Given the description of an element on the screen output the (x, y) to click on. 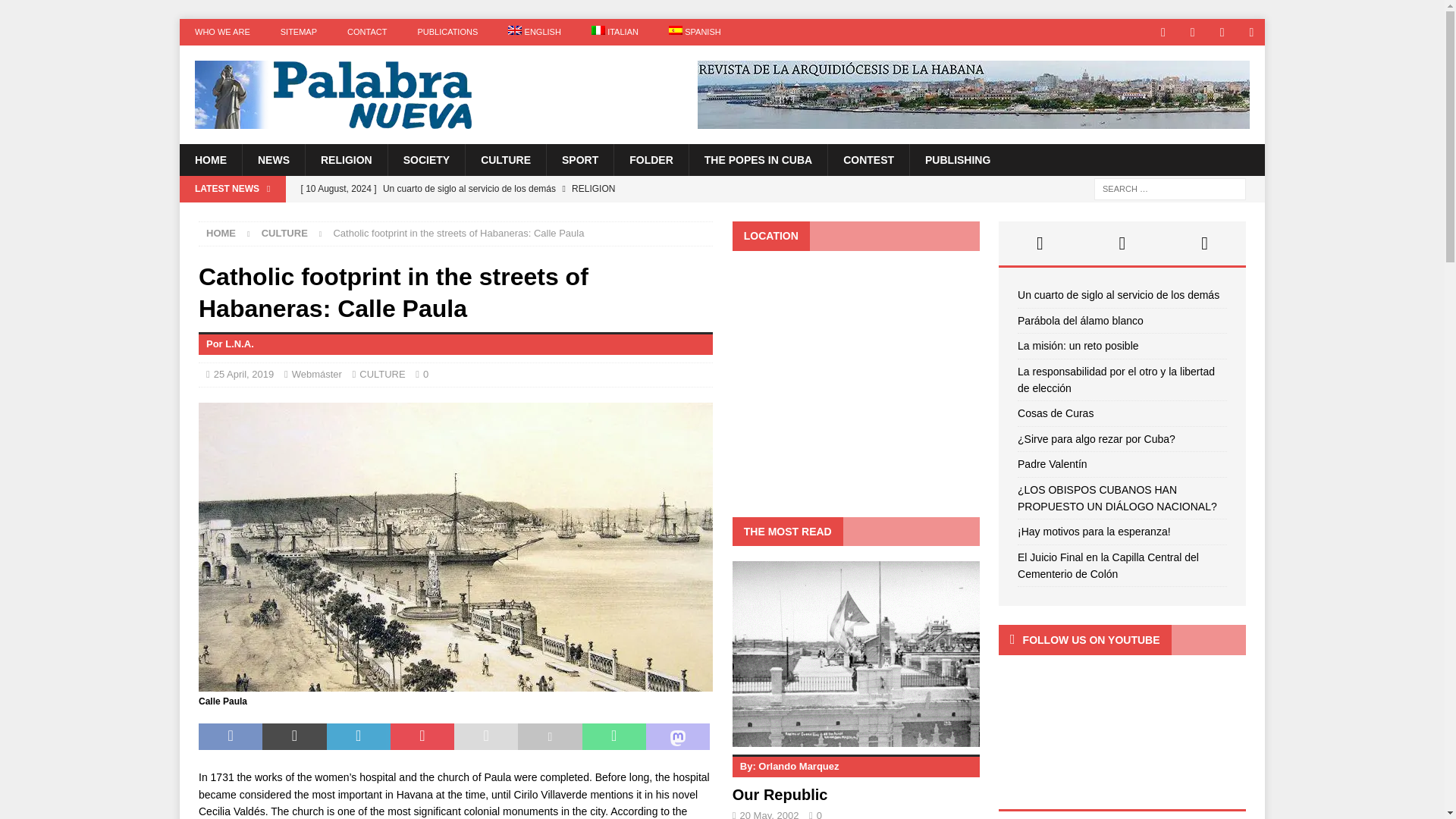
ENGLISH (534, 31)
CULTURE (284, 233)
RELIGION (345, 160)
SOCIETY (425, 160)
Search (56, 11)
Spanish (694, 31)
25 April, 2019 (244, 374)
HOME (210, 160)
Tweet This Post (294, 737)
PUBLISHING (957, 160)
